Given the description of an element on the screen output the (x, y) to click on. 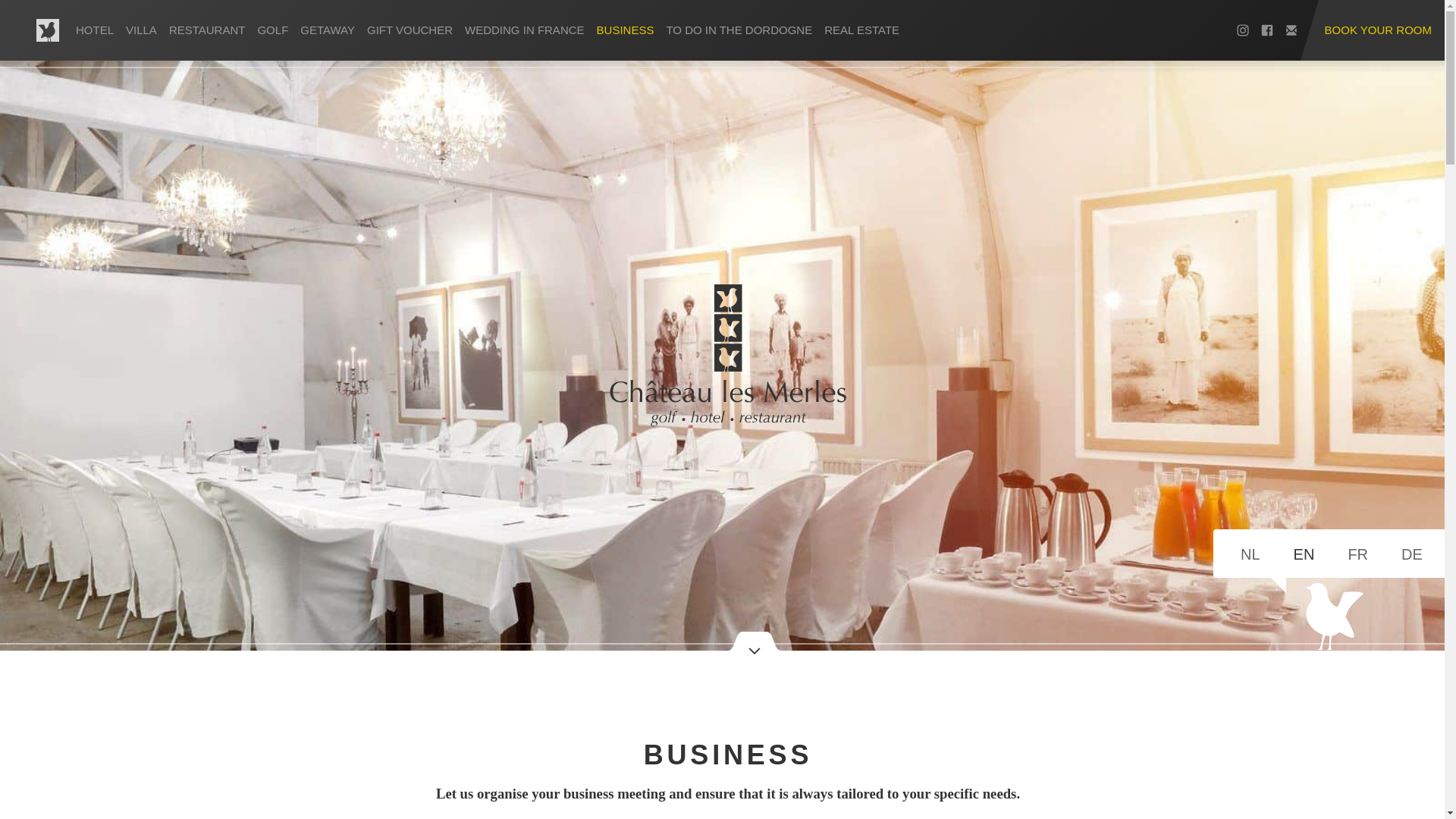
EN (1303, 553)
DE (1411, 553)
FR (1357, 553)
GIFT VOUCHER (409, 30)
NL (1250, 553)
BUSINESS (626, 30)
REAL ESTATE (861, 30)
GETAWAY (327, 30)
TO DO IN THE DORDOGNE (738, 30)
WEDDING IN FRANCE (524, 30)
